Given the description of an element on the screen output the (x, y) to click on. 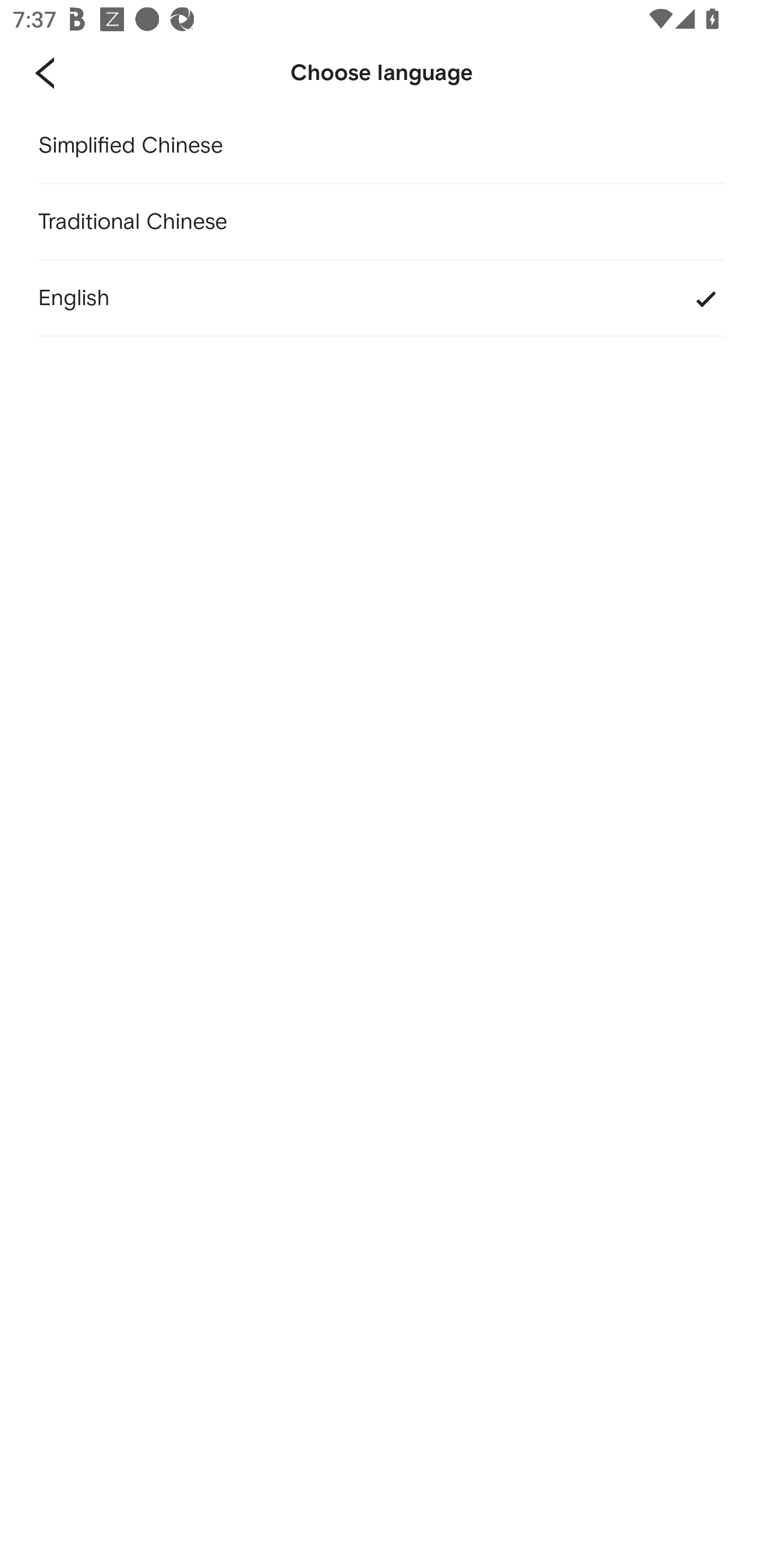
Simplified Chinese (381, 146)
Traditional Chinese (381, 222)
English (381, 298)
